Given the description of an element on the screen output the (x, y) to click on. 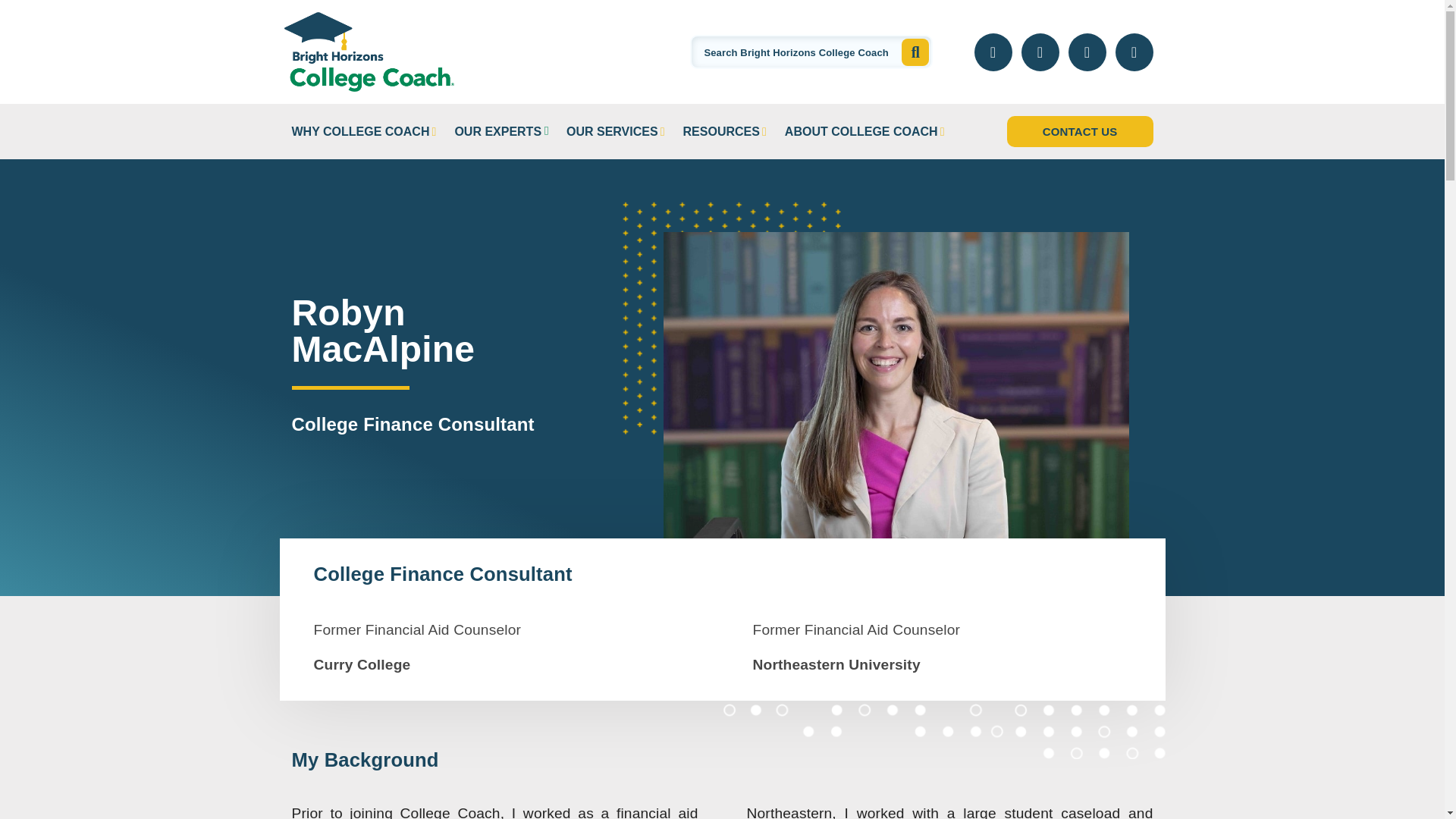
OUR SERVICES (612, 131)
WHY COLLEGE COACH (360, 131)
Skip to main content (74, 14)
RESOURCES (721, 131)
OUR EXPERTS (497, 131)
ABOUT COLLEGE COACH (860, 131)
